Given the description of an element on the screen output the (x, y) to click on. 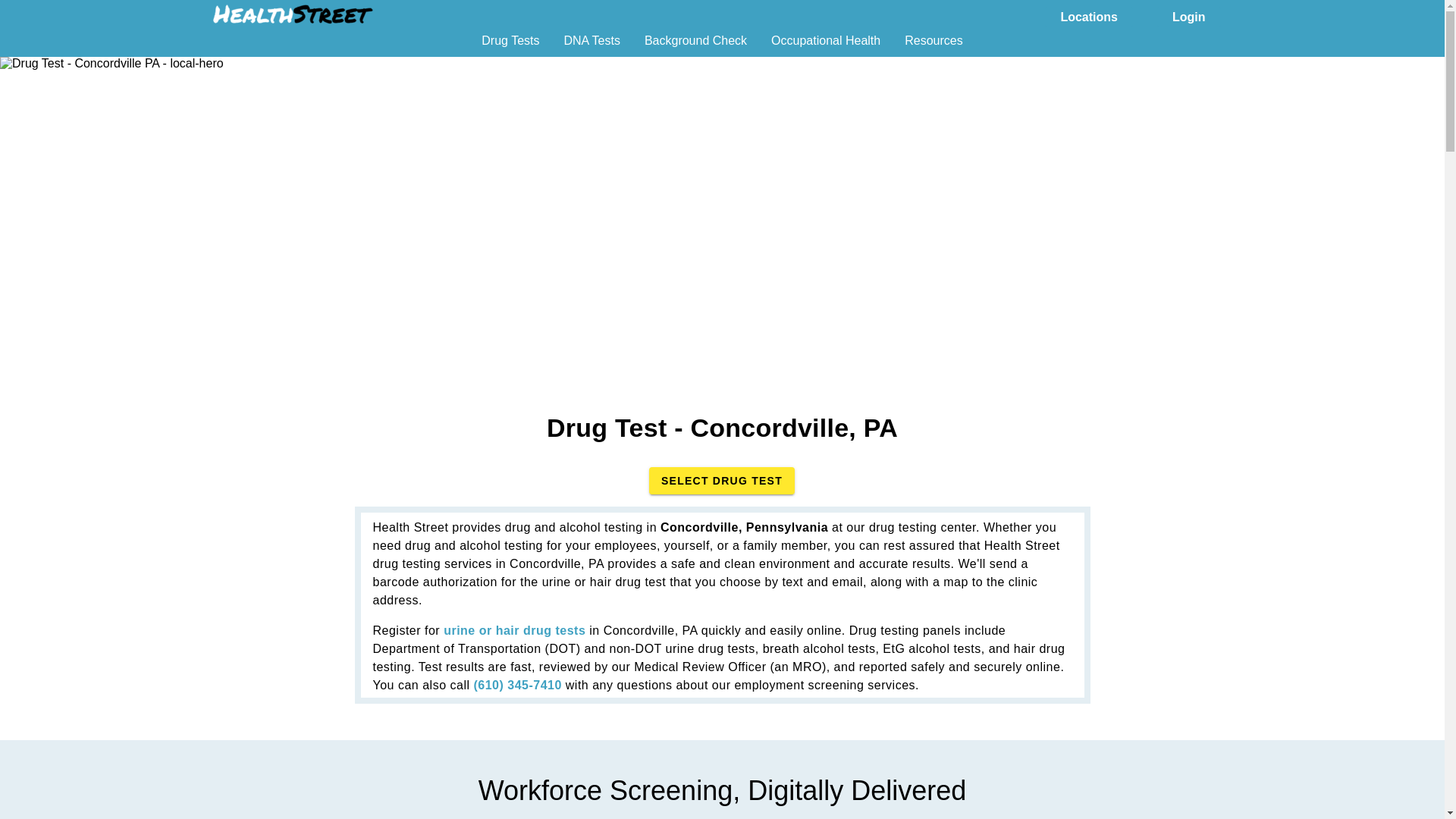
Register for drug tests (514, 630)
DNA Tests (592, 46)
Occupational Health (825, 46)
HEALTH STREET (292, 14)
Background Check (695, 46)
Locations (1088, 15)
Login (1189, 15)
Drug Tests (509, 46)
Drug Test - Concordville PA (112, 63)
Select drug and alcohol tests in Concordville, Pennsylvania (721, 480)
